Given the description of an element on the screen output the (x, y) to click on. 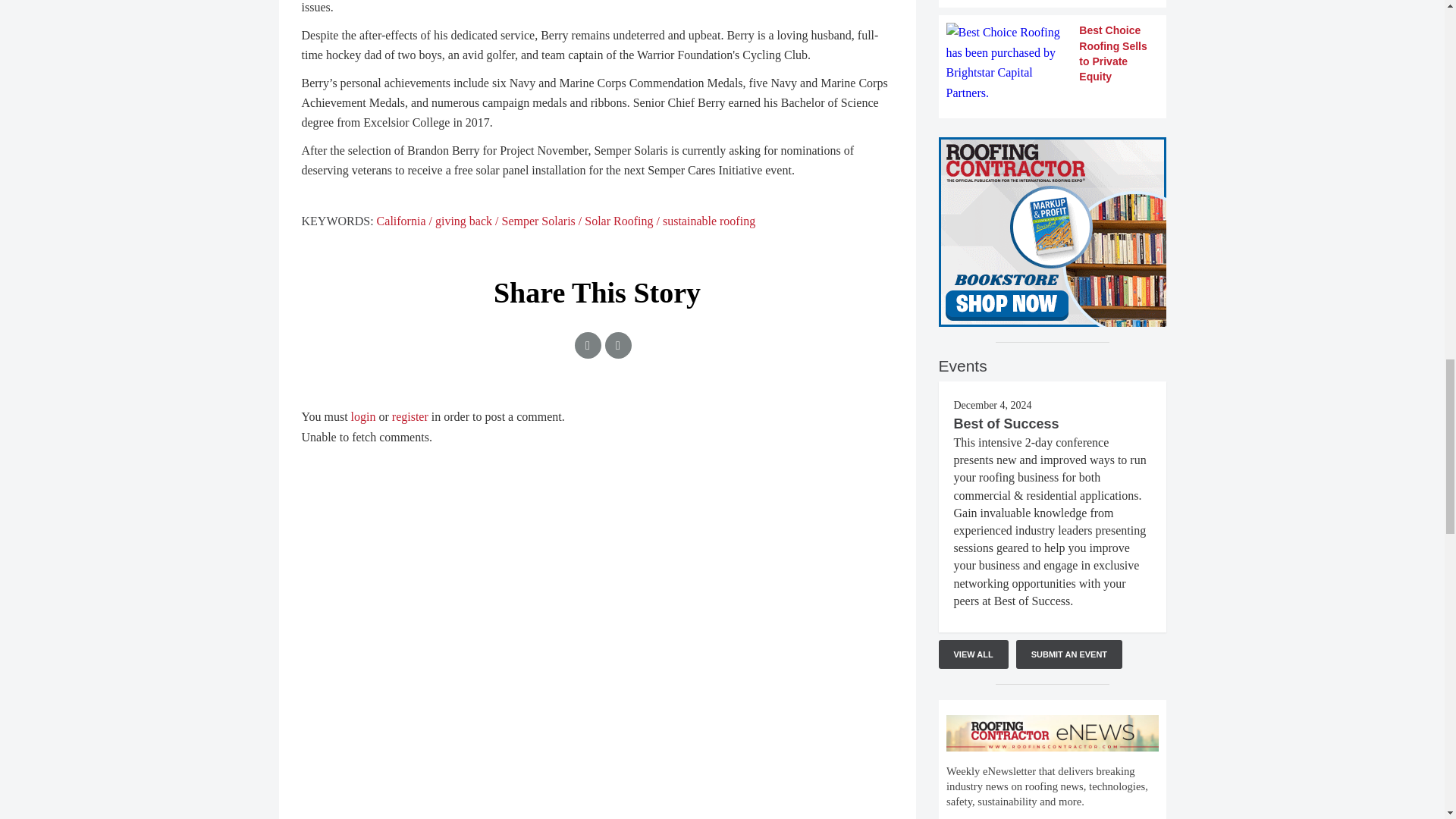
Best of Success (1006, 423)
Interaction questions (1052, 759)
Best Choice Roofing Sells to Private Equity (1052, 62)
